Given the description of an element on the screen output the (x, y) to click on. 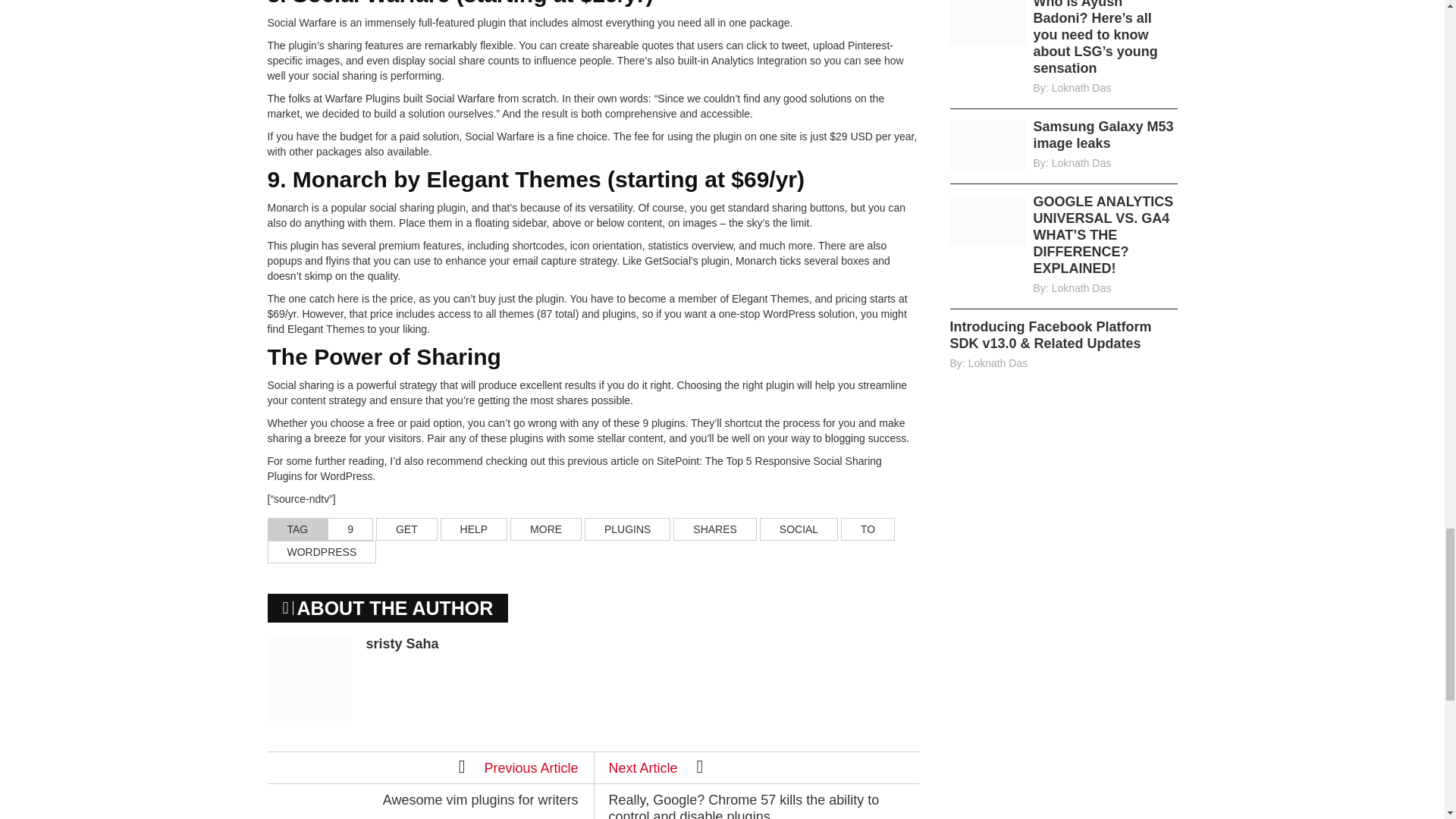
Posts by sristy Saha (401, 643)
